Given the description of an element on the screen output the (x, y) to click on. 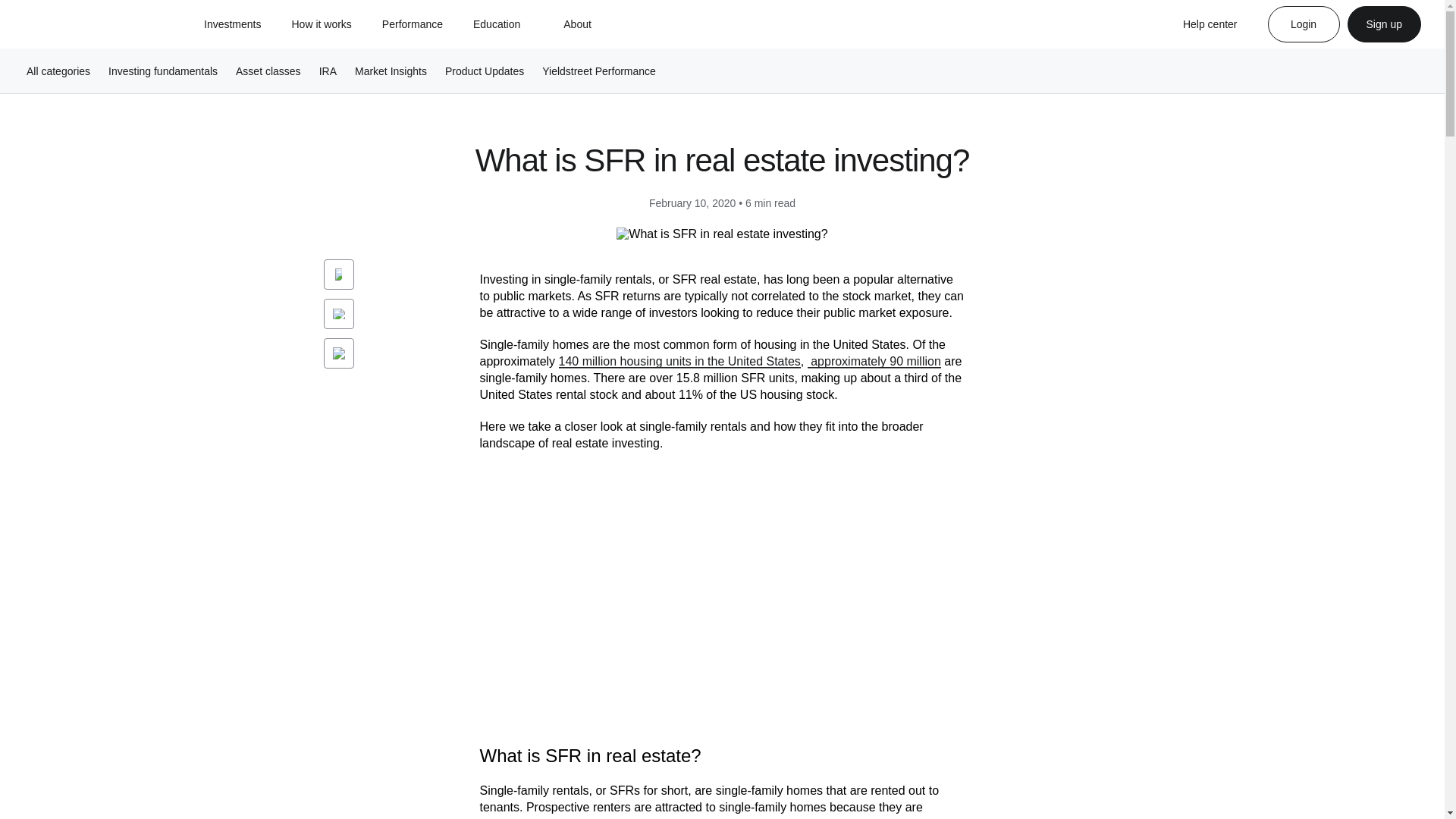
Education (496, 24)
How it works (320, 24)
About (577, 24)
Performance (411, 24)
Investments (231, 24)
